Given the description of an element on the screen output the (x, y) to click on. 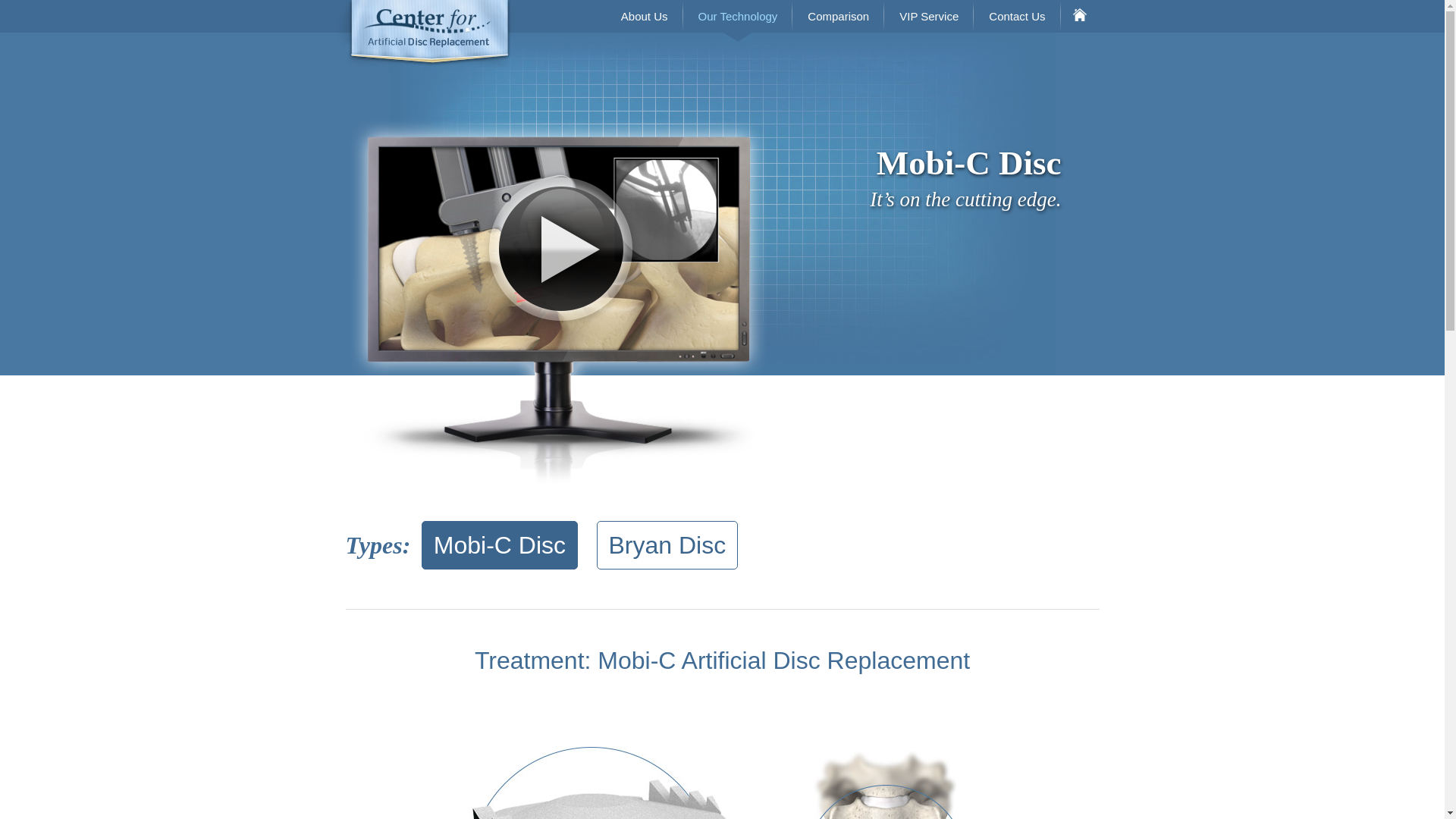
Contact Us (1016, 16)
Comparison (837, 16)
Bryan Disc (667, 544)
Center For Artificial Disc Replacement (424, 33)
Our Technology (737, 16)
Mobi-C Disc (500, 544)
Home (1079, 16)
About Us (643, 16)
VIP Service (928, 16)
